Given the description of an element on the screen output the (x, y) to click on. 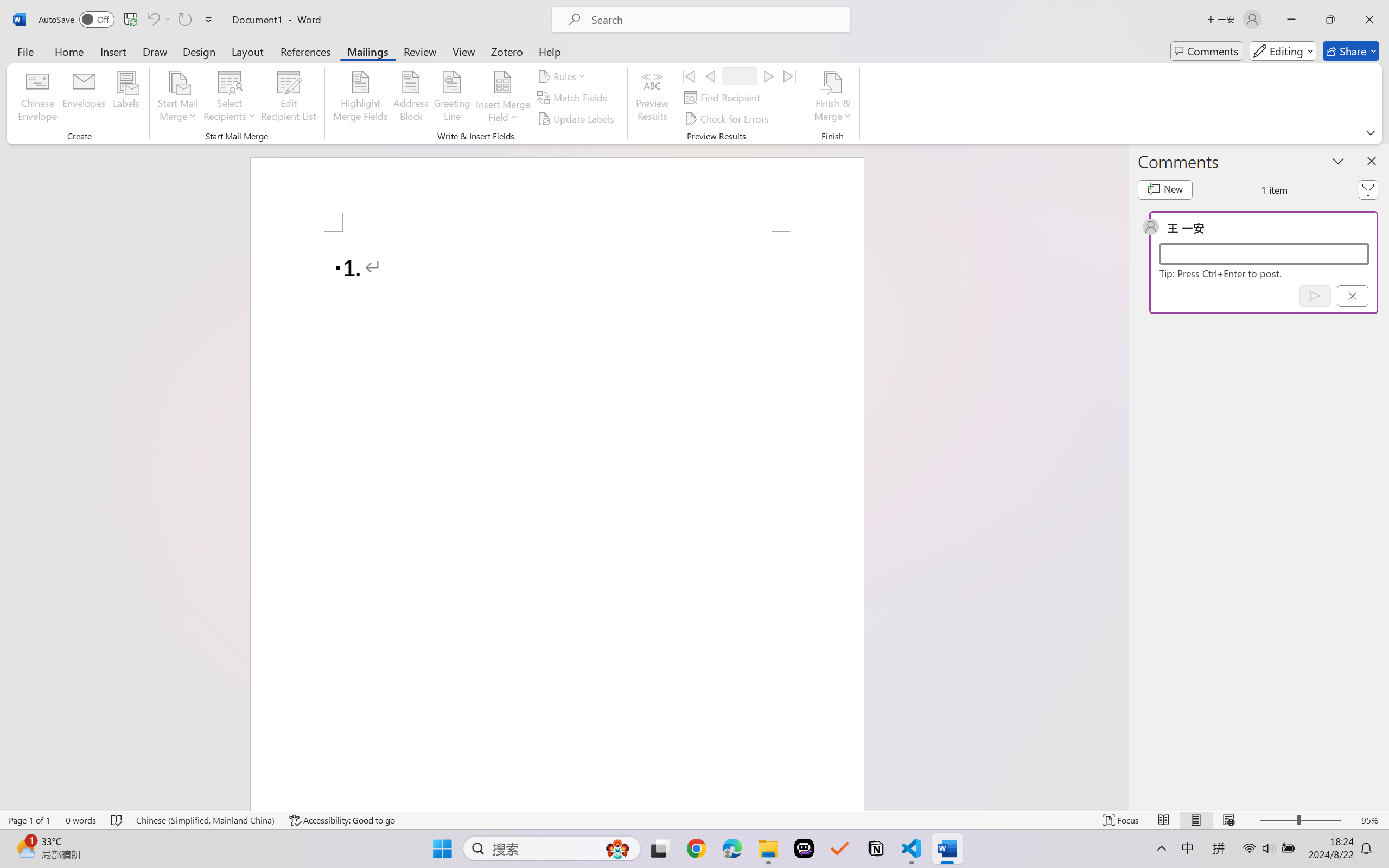
Find Recipient... (723, 97)
Address Block... (410, 97)
Repeat Doc Close (184, 19)
Undo Number Default (152, 19)
Highlight Merge Fields (360, 97)
Next (768, 75)
